Given the description of an element on the screen output the (x, y) to click on. 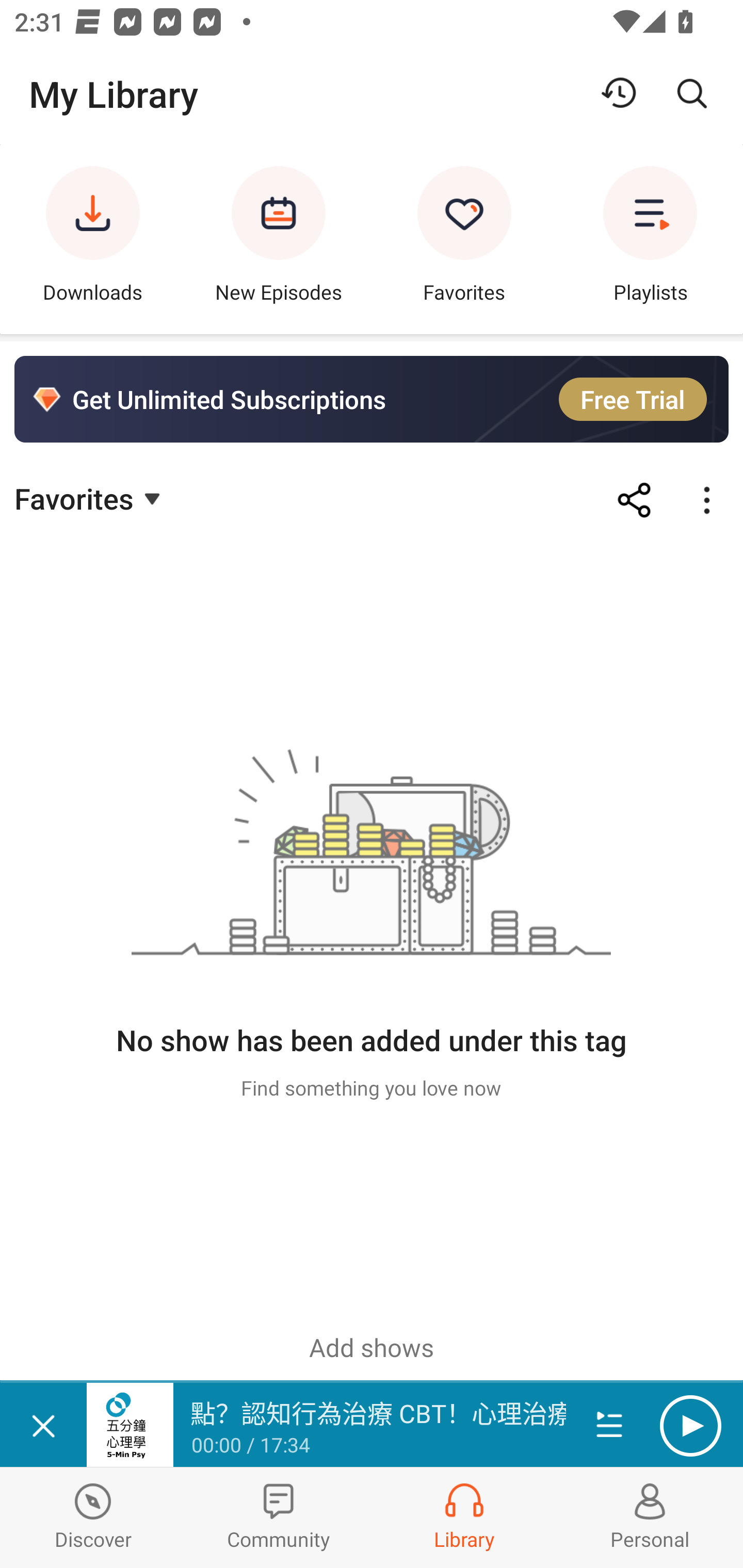
Downloads (92, 238)
New Episodes (278, 238)
Favorites (464, 238)
Playlists (650, 238)
Get Unlimited Subscriptions Free Trial (371, 398)
Free Trial (632, 398)
Favorites (90, 497)
Add shows (371, 1346)
Play (690, 1425)
Discover (92, 1517)
Community (278, 1517)
Library (464, 1517)
Profiles and Settings Personal (650, 1517)
